Given the description of an element on the screen output the (x, y) to click on. 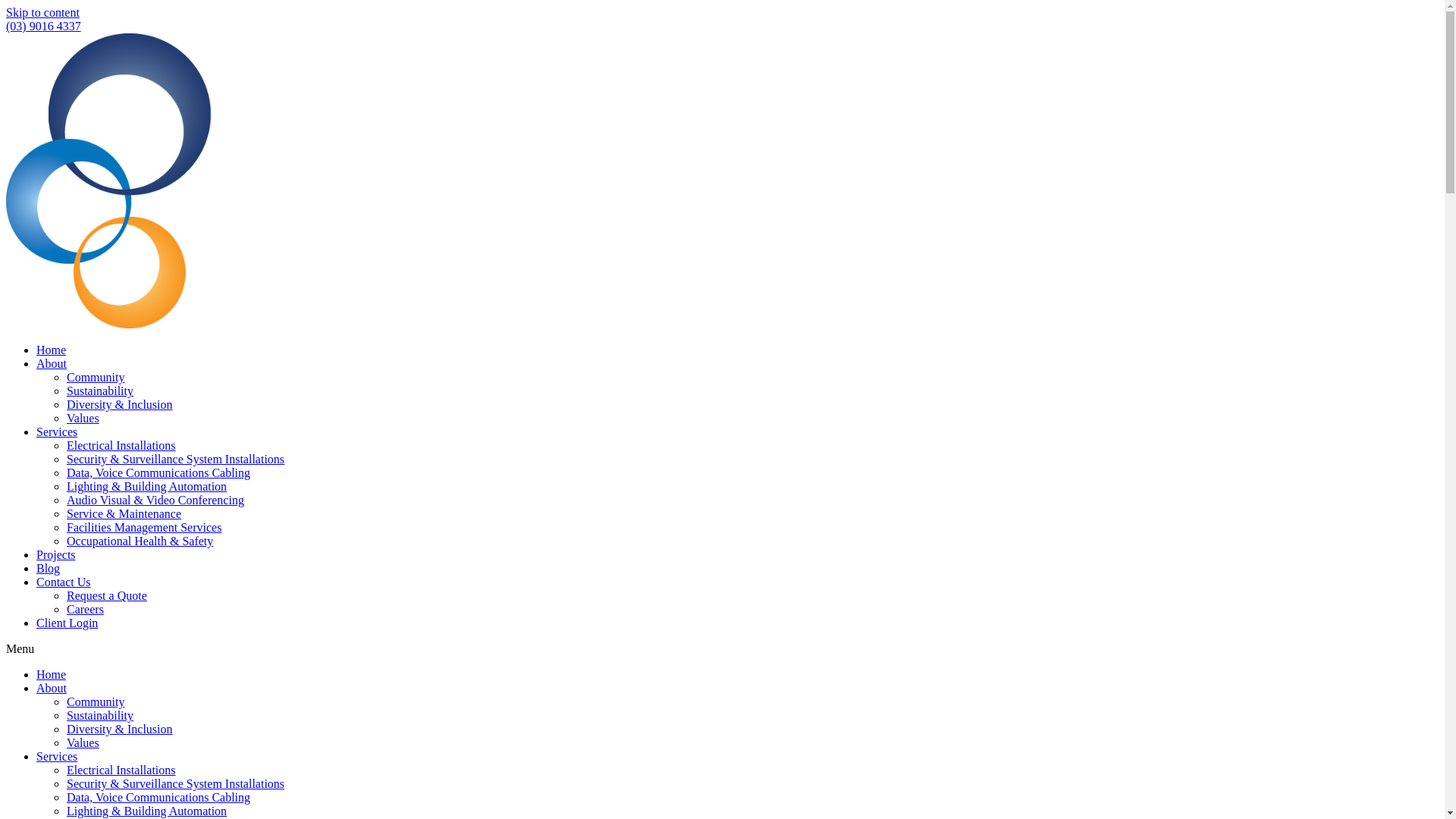
Services Element type: text (56, 431)
Sustainability Element type: text (99, 390)
Facilities Management Services Element type: text (143, 526)
Community Element type: text (95, 701)
Audio Visual & Video Conferencing Element type: text (155, 499)
About Element type: text (51, 687)
Diversity & Inclusion Element type: text (119, 404)
Security & Surveillance System Installations Element type: text (175, 783)
Service & Maintenance Element type: text (123, 513)
Lighting & Building Automation Element type: text (146, 486)
Skip to content Element type: text (42, 12)
Careers Element type: text (84, 608)
Request a Quote Element type: text (106, 595)
Lighting & Building Automation Element type: text (146, 810)
Security & Surveillance System Installations Element type: text (175, 458)
Data, Voice Communications Cabling Element type: text (158, 472)
Diversity & Inclusion Element type: text (119, 728)
Data, Voice Communications Cabling Element type: text (158, 796)
Electrical Installations Element type: text (120, 769)
Occupational Health & Safety Element type: text (139, 540)
Client Login Element type: text (66, 622)
Home Element type: text (50, 674)
Values Element type: text (82, 742)
Services Element type: text (56, 755)
Home Element type: text (50, 349)
(03) 9016 4337 Element type: text (43, 25)
About Element type: text (51, 363)
Projects Element type: text (55, 554)
Sustainability Element type: text (99, 715)
Electrical Installations Element type: text (120, 445)
Values Element type: text (82, 417)
Blog Element type: text (47, 567)
Contact Us Element type: text (63, 581)
Community Element type: text (95, 376)
